Given the description of an element on the screen output the (x, y) to click on. 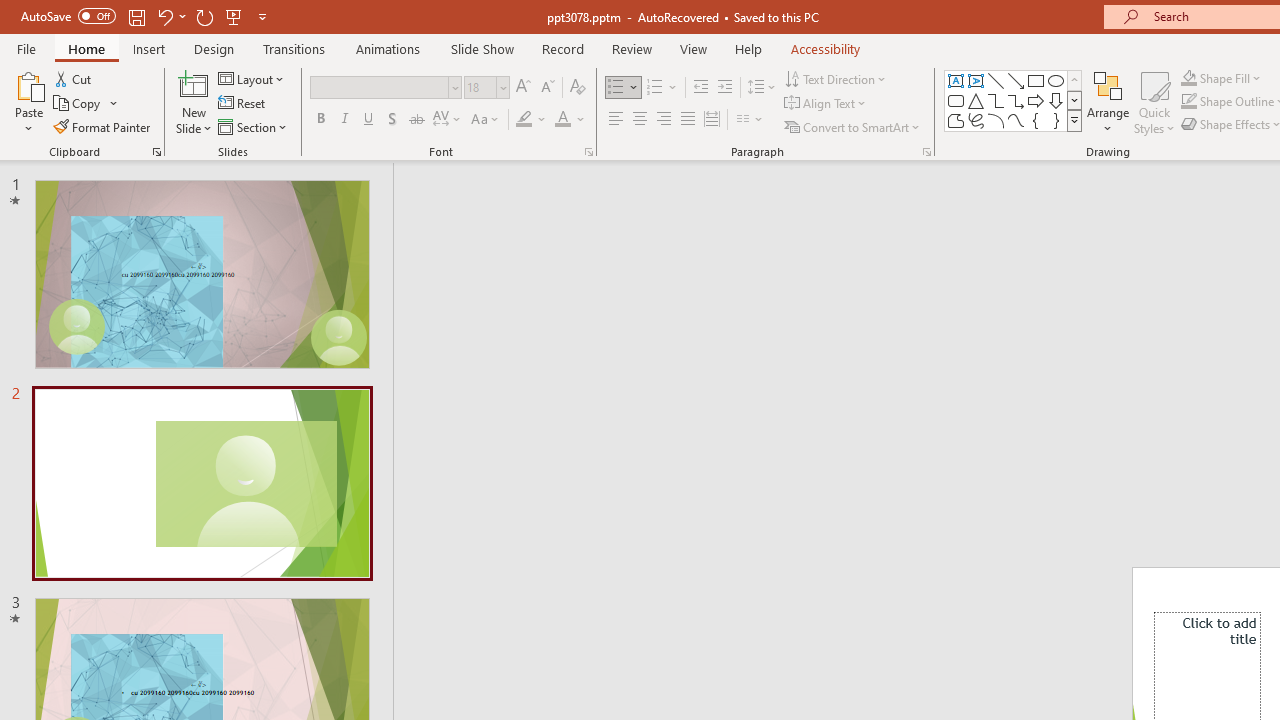
Layout (252, 78)
AutoSave (68, 16)
Convert to SmartArt (853, 126)
Underline (369, 119)
Italic (344, 119)
Text Highlight Color (531, 119)
Insert (149, 48)
Justify (687, 119)
Character Spacing (447, 119)
Right Brace (1055, 120)
Curve (1016, 120)
Align Right (663, 119)
Font Size (486, 87)
